Given the description of an element on the screen output the (x, y) to click on. 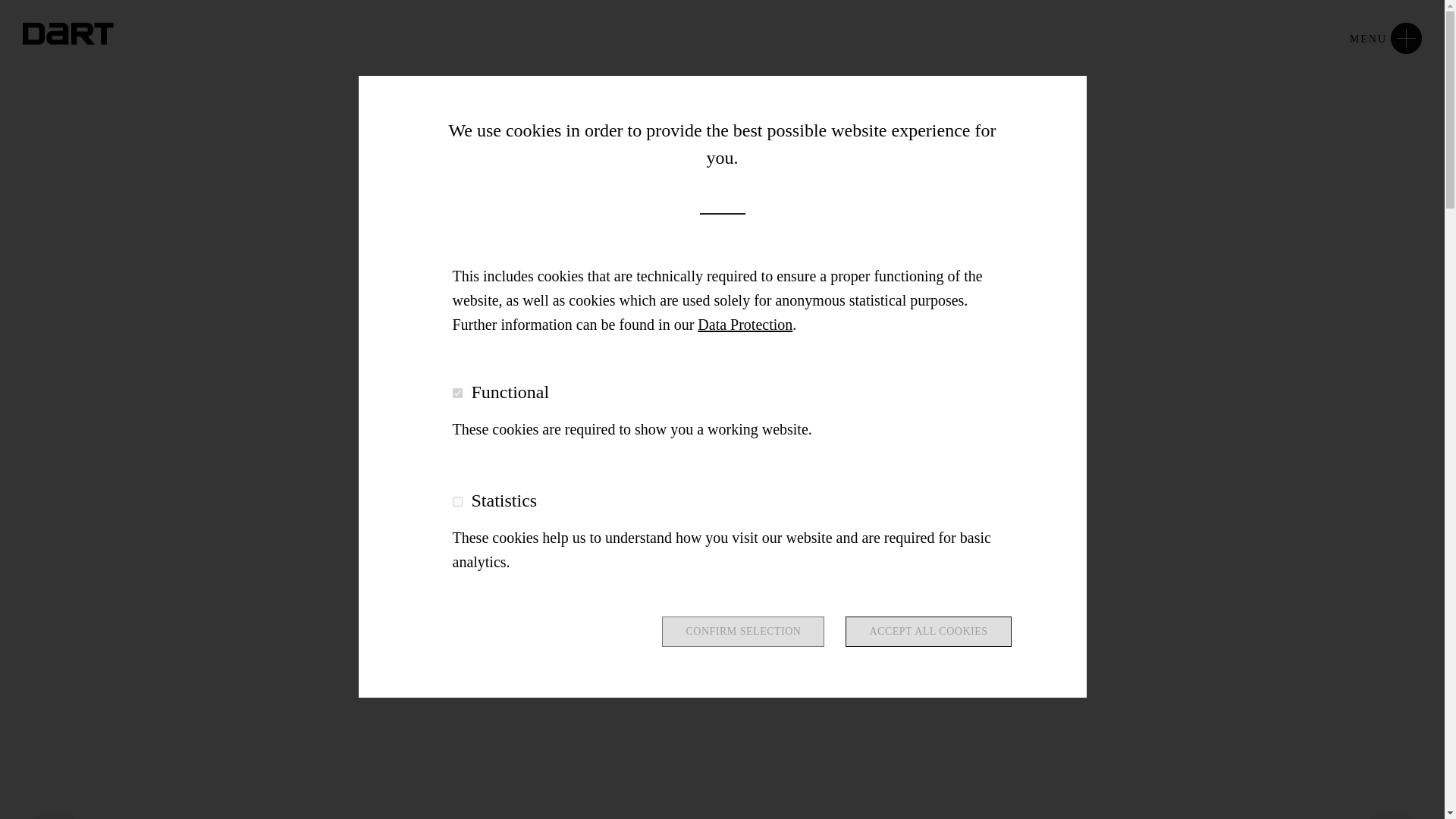
ACCEPT ALL COOKIES (927, 631)
on (456, 393)
on (456, 501)
Data Protection (744, 324)
CONFIRM SELECTION (743, 631)
